Given the description of an element on the screen output the (x, y) to click on. 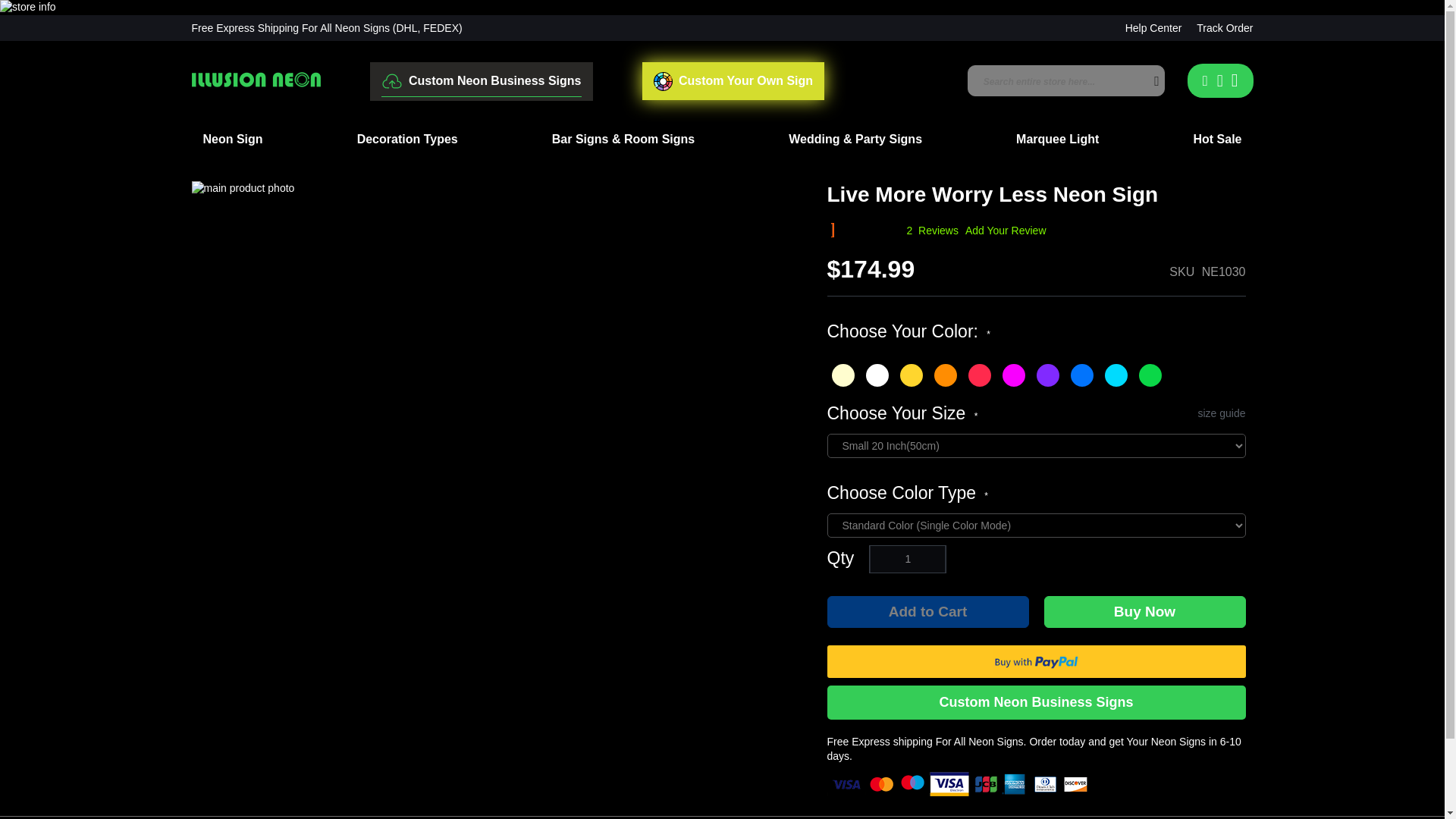
Decoration Types (407, 139)
Neon Sign (231, 139)
Help Center (1153, 28)
Custom Neon Business Signs (480, 81)
Decoration Types (407, 139)
Neon Sign (231, 139)
1 (906, 559)
Custom Your Own Sign (733, 80)
Track Order (1224, 28)
Upload Image (480, 81)
Custom Your Own Sign (733, 80)
